Given the description of an element on the screen output the (x, y) to click on. 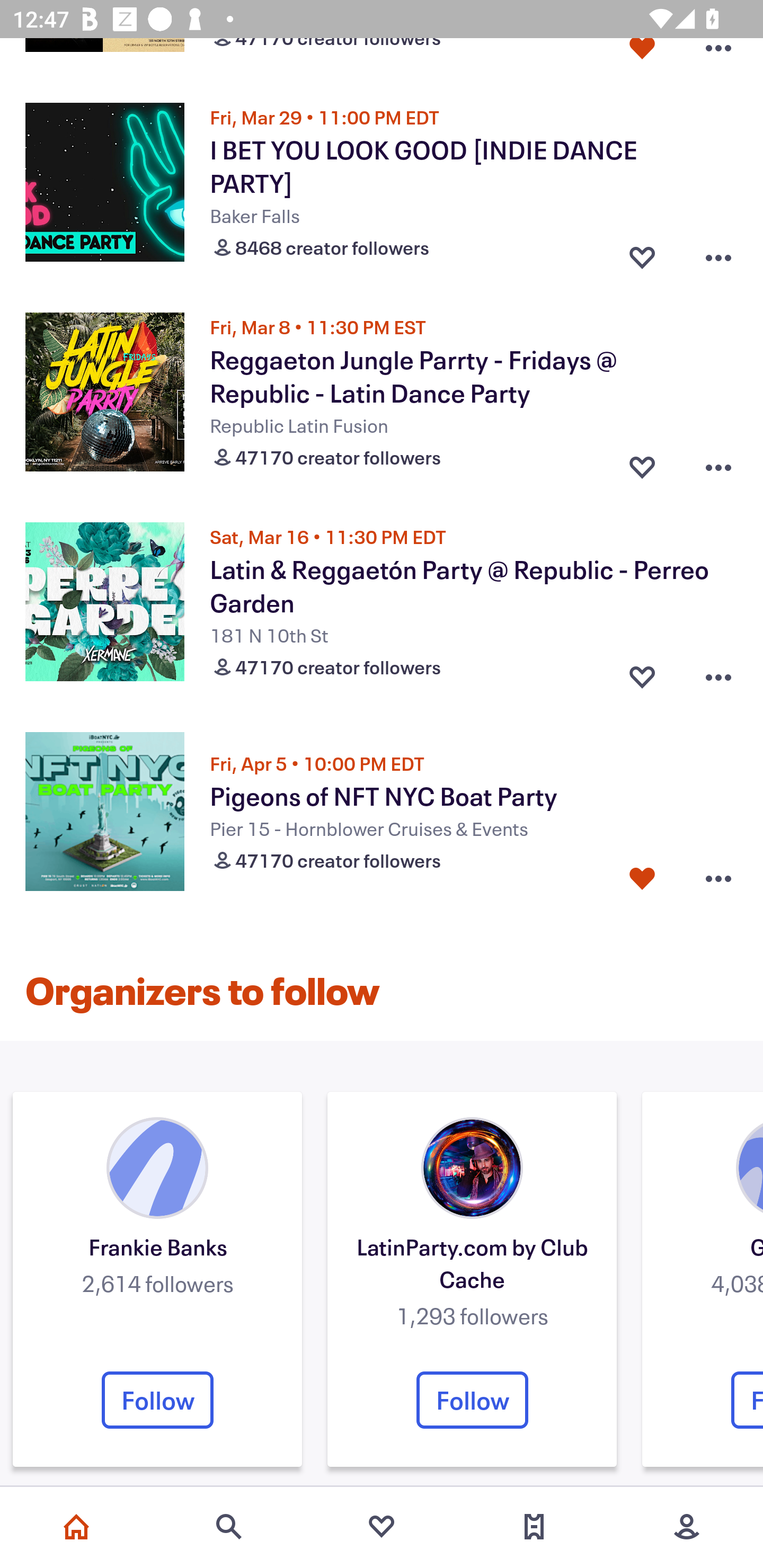
Favorite button (642, 56)
Overflow menu button (718, 56)
Favorite button (642, 252)
Overflow menu button (718, 252)
Favorite button (642, 463)
Overflow menu button (718, 463)
Favorite button (642, 673)
Overflow menu button (718, 673)
Favorite button (642, 877)
Overflow menu button (718, 877)
Follow Organizer's follow button (157, 1400)
Follow Organizer's follow button (471, 1400)
Home (76, 1526)
Search events (228, 1526)
Favorites (381, 1526)
Tickets (533, 1526)
More (686, 1526)
